Given the description of an element on the screen output the (x, y) to click on. 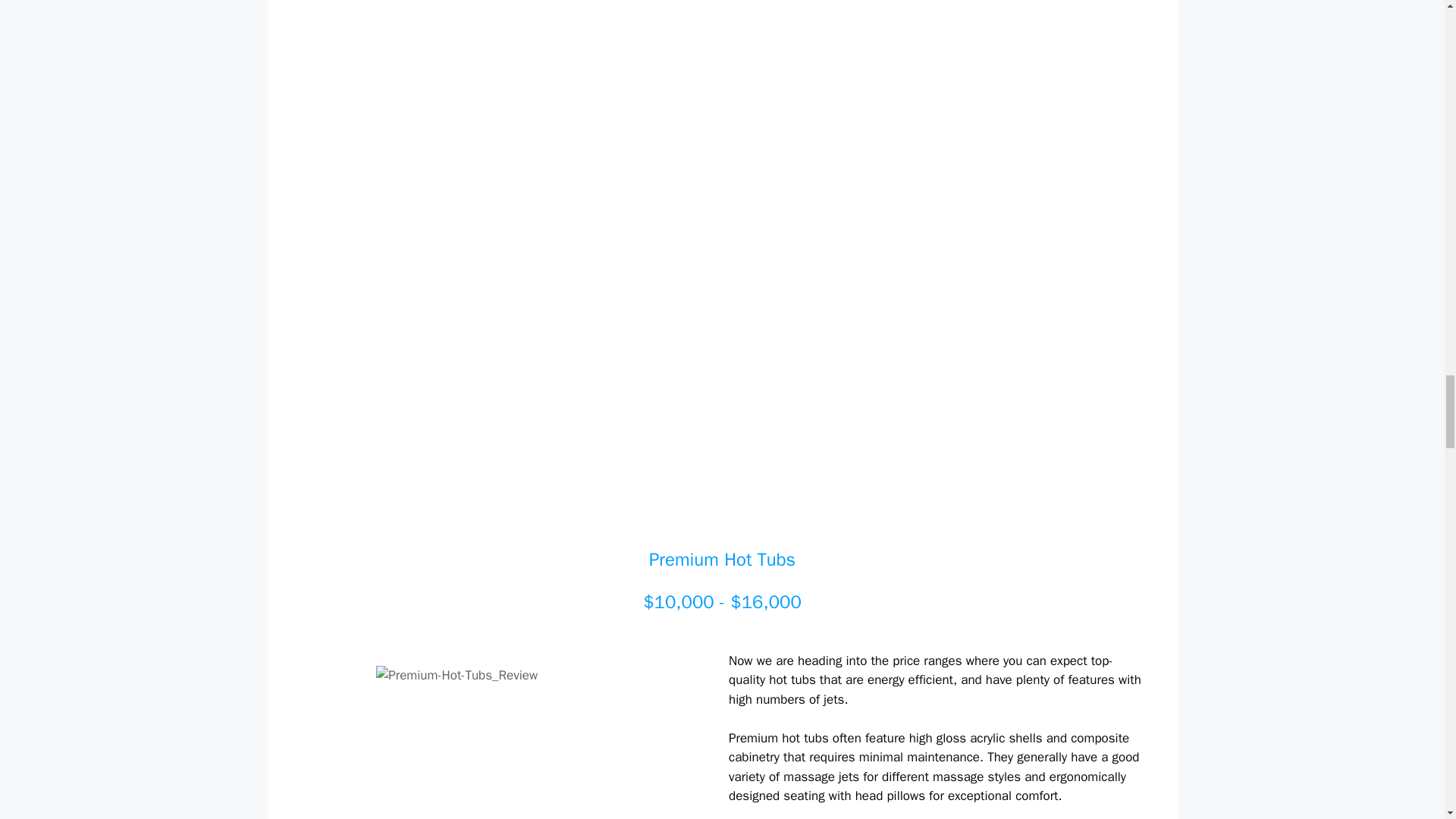
Premium-Hot-Tubs (506, 742)
Premium Hot Tubs (721, 558)
